Given the description of an element on the screen output the (x, y) to click on. 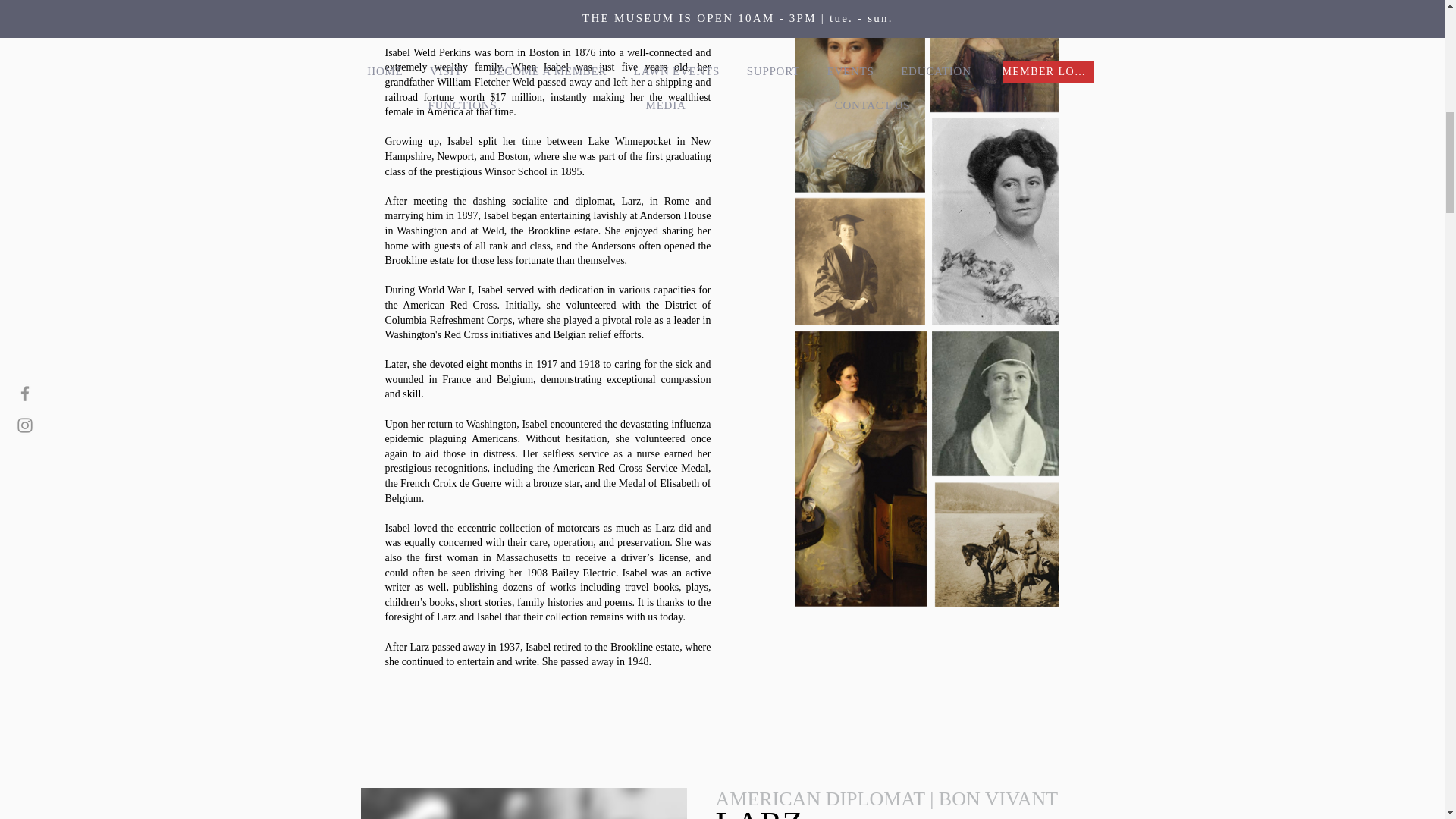
isabel.png (524, 803)
